Given the description of an element on the screen output the (x, y) to click on. 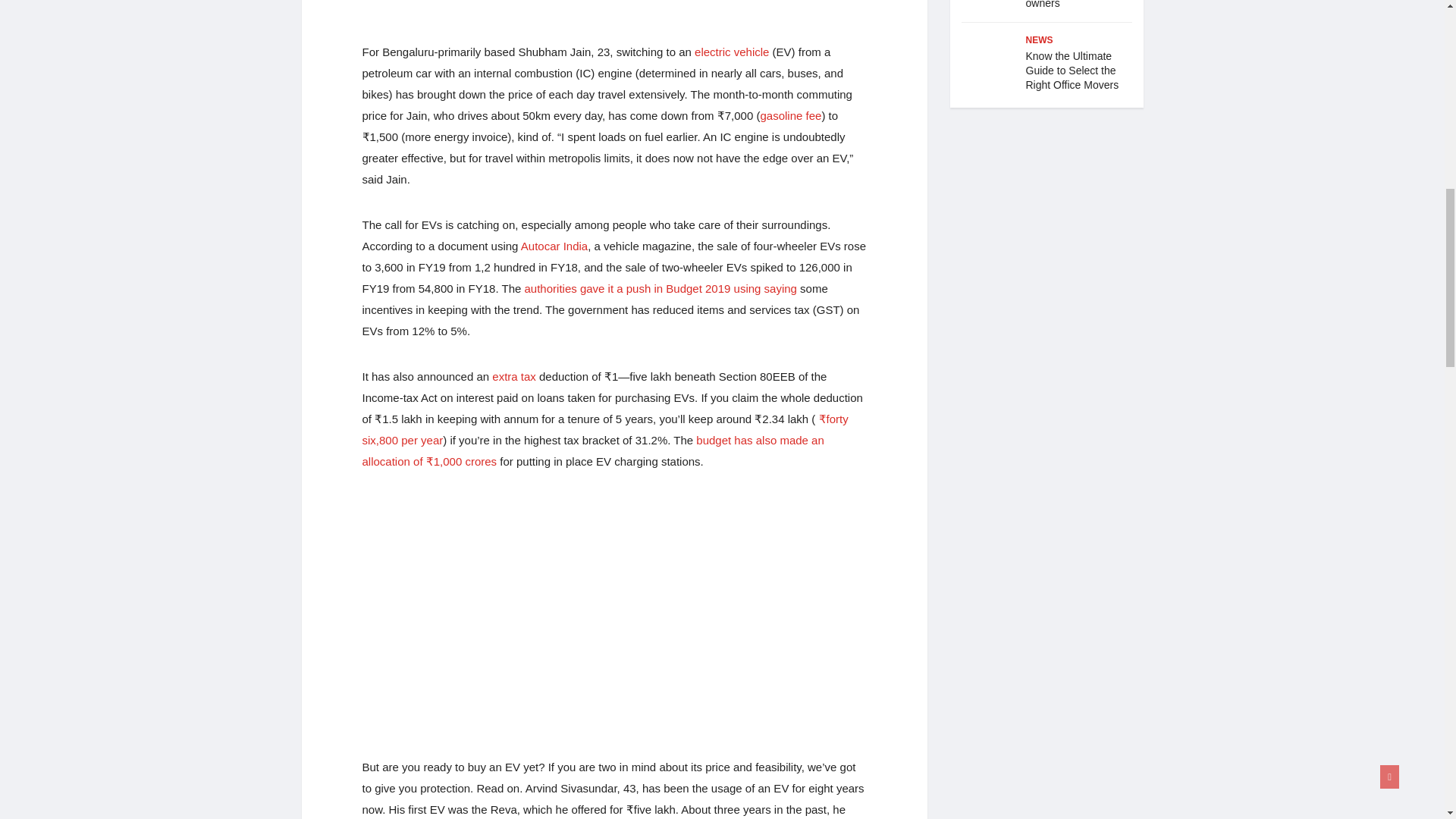
authorities gave it a push in Budget 2019 using saying (660, 287)
Autocar India (554, 245)
extra tax (513, 376)
gasoline fee (790, 115)
electric vehicle (731, 51)
